Given the description of an element on the screen output the (x, y) to click on. 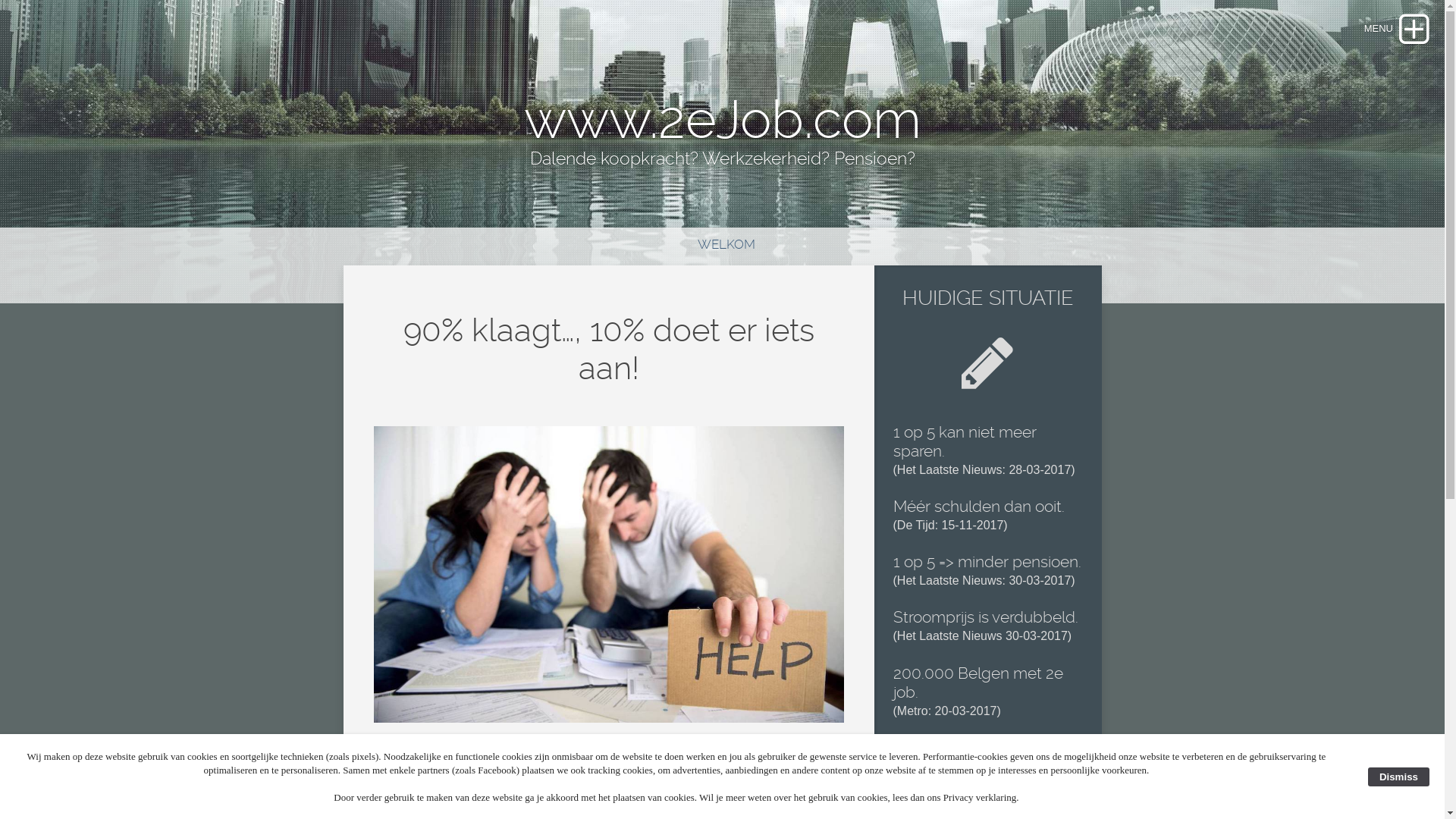
WELKOM Element type: text (719, 243)
Dismiss Element type: text (1398, 776)
